Given the description of an element on the screen output the (x, y) to click on. 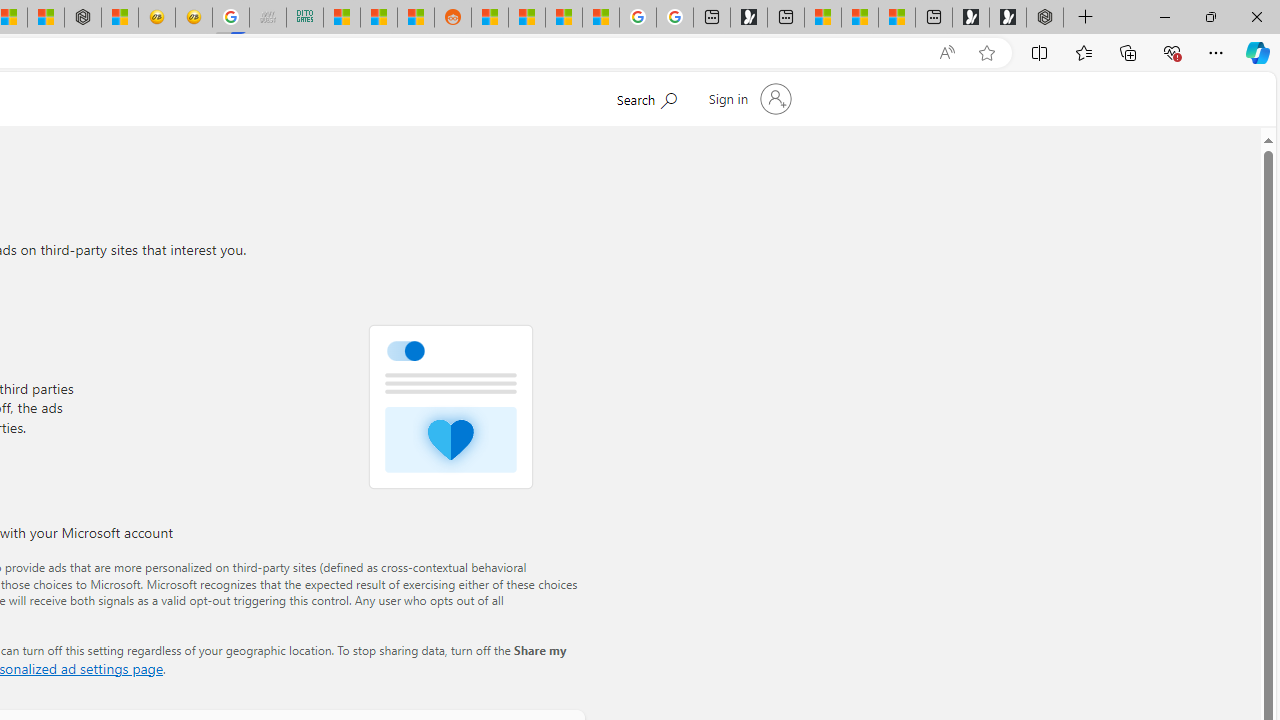
Search Microsoft.com (646, 97)
